Given the description of an element on the screen output the (x, y) to click on. 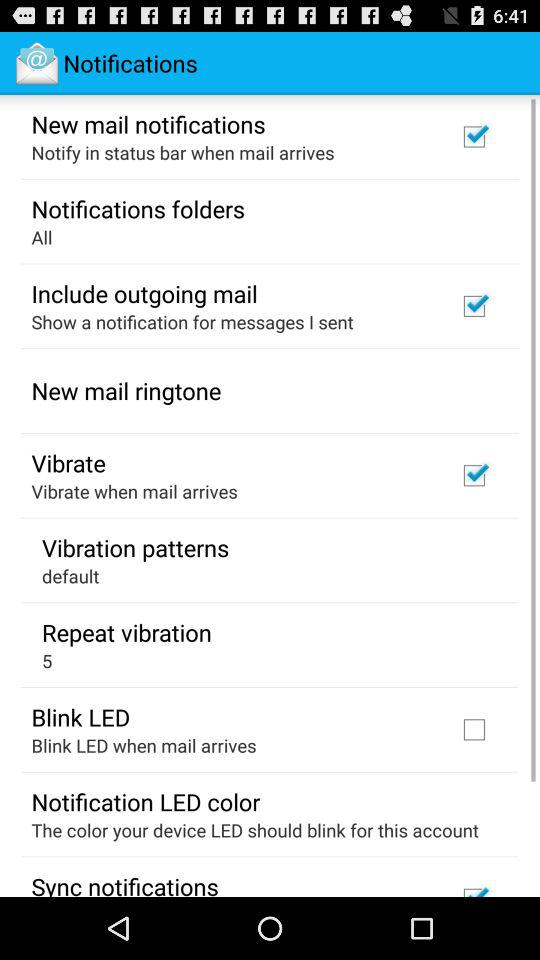
scroll until vibration patterns app (135, 547)
